Given the description of an element on the screen output the (x, y) to click on. 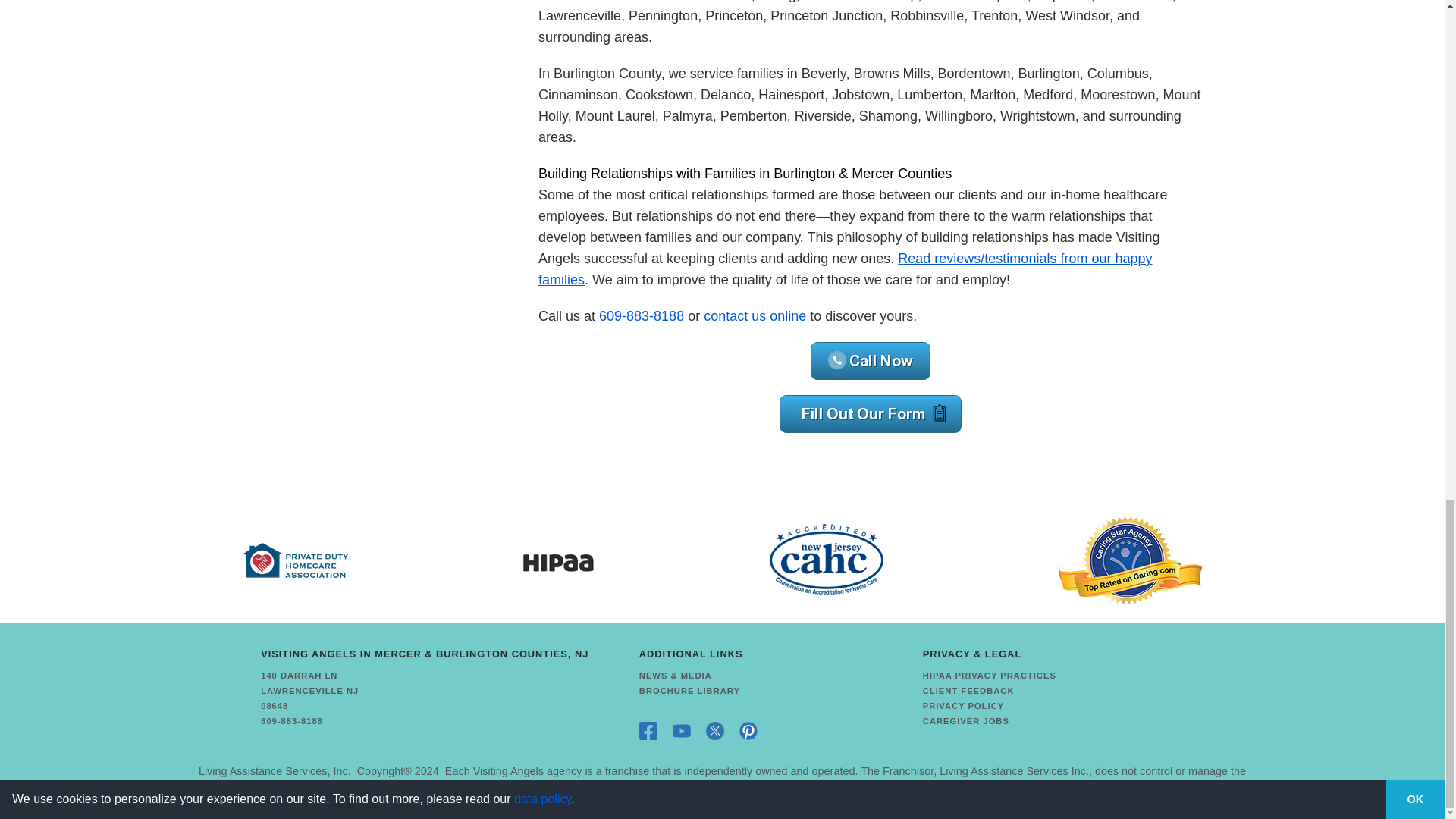
senior home care franchise opportunities (274, 770)
